Given the description of an element on the screen output the (x, y) to click on. 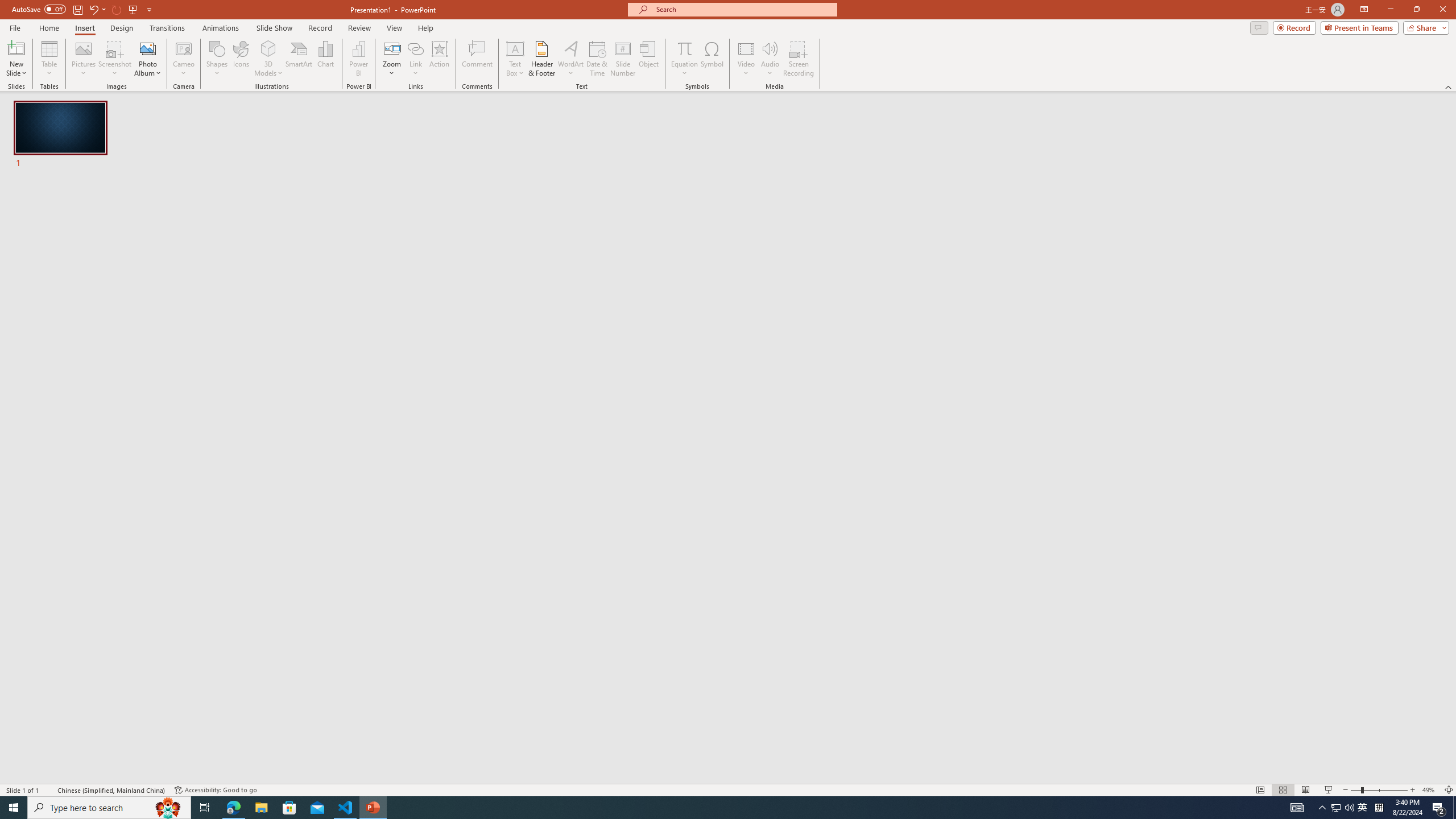
Class: MsoCommandBar (728, 789)
Equation (683, 58)
Screen Recording... (798, 58)
Photo Album... (147, 58)
Screenshot (114, 58)
WordArt (570, 58)
Audio (769, 58)
3D Models (268, 58)
Chart... (325, 58)
New Slide (16, 58)
